Given the description of an element on the screen output the (x, y) to click on. 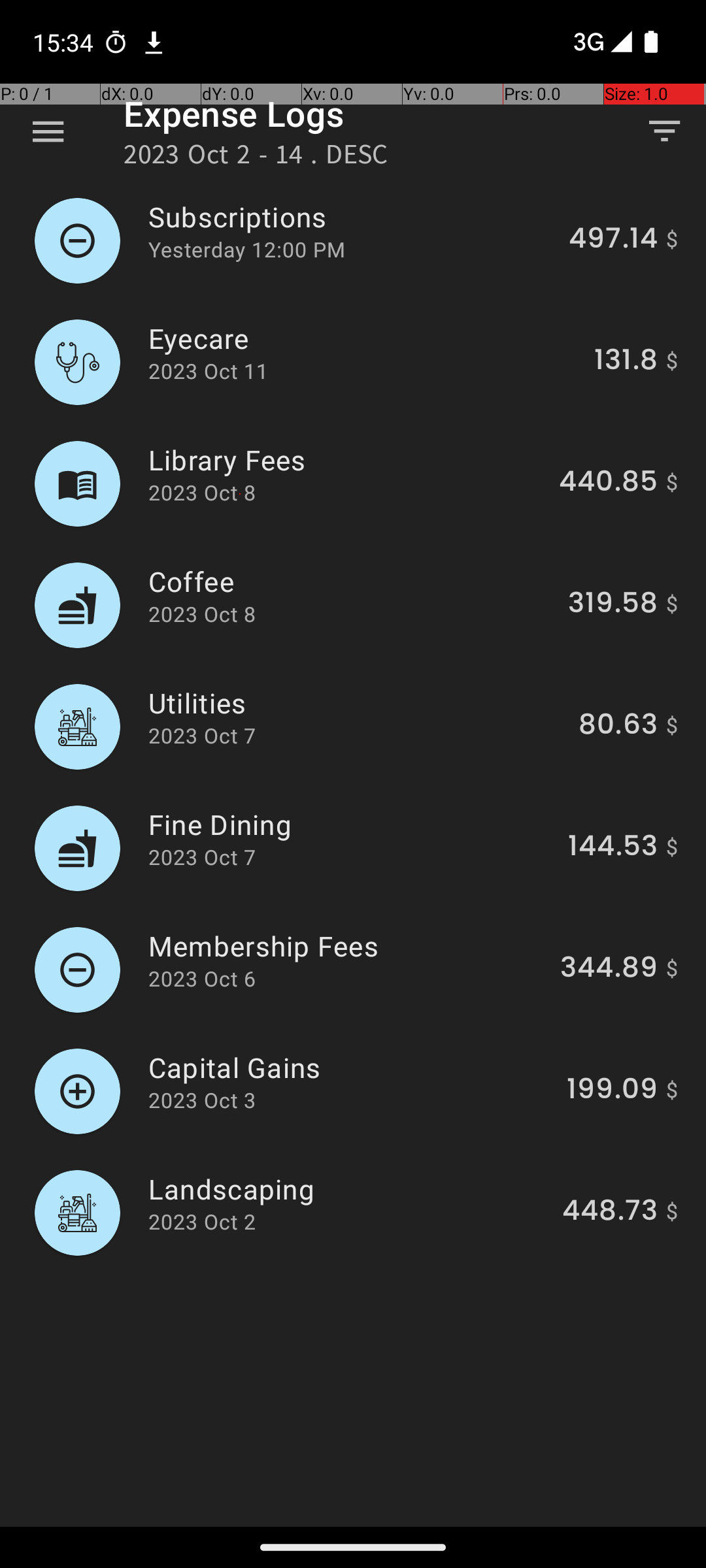
2023 Oct 2 - 14 . DESC Element type: android.widget.TextView (255, 157)
Yesterday 12:00 PM Element type: android.widget.TextView (246, 249)
497.14 Element type: android.widget.TextView (613, 240)
131.8 Element type: android.widget.TextView (625, 362)
440.85 Element type: android.widget.TextView (608, 483)
319.58 Element type: android.widget.TextView (612, 605)
Utilities Element type: android.widget.TextView (355, 702)
80.63 Element type: android.widget.TextView (617, 726)
144.53 Element type: android.widget.TextView (612, 848)
344.89 Element type: android.widget.TextView (608, 969)
2023 Oct 3 Element type: android.widget.TextView (201, 1099)
199.09 Element type: android.widget.TextView (612, 1091)
Landscaping Element type: android.widget.TextView (347, 1188)
2023 Oct 2 Element type: android.widget.TextView (201, 1221)
448.73 Element type: android.widget.TextView (609, 1212)
Chrome notification: m.youtube.com Element type: android.widget.ImageView (153, 41)
